Given the description of an element on the screen output the (x, y) to click on. 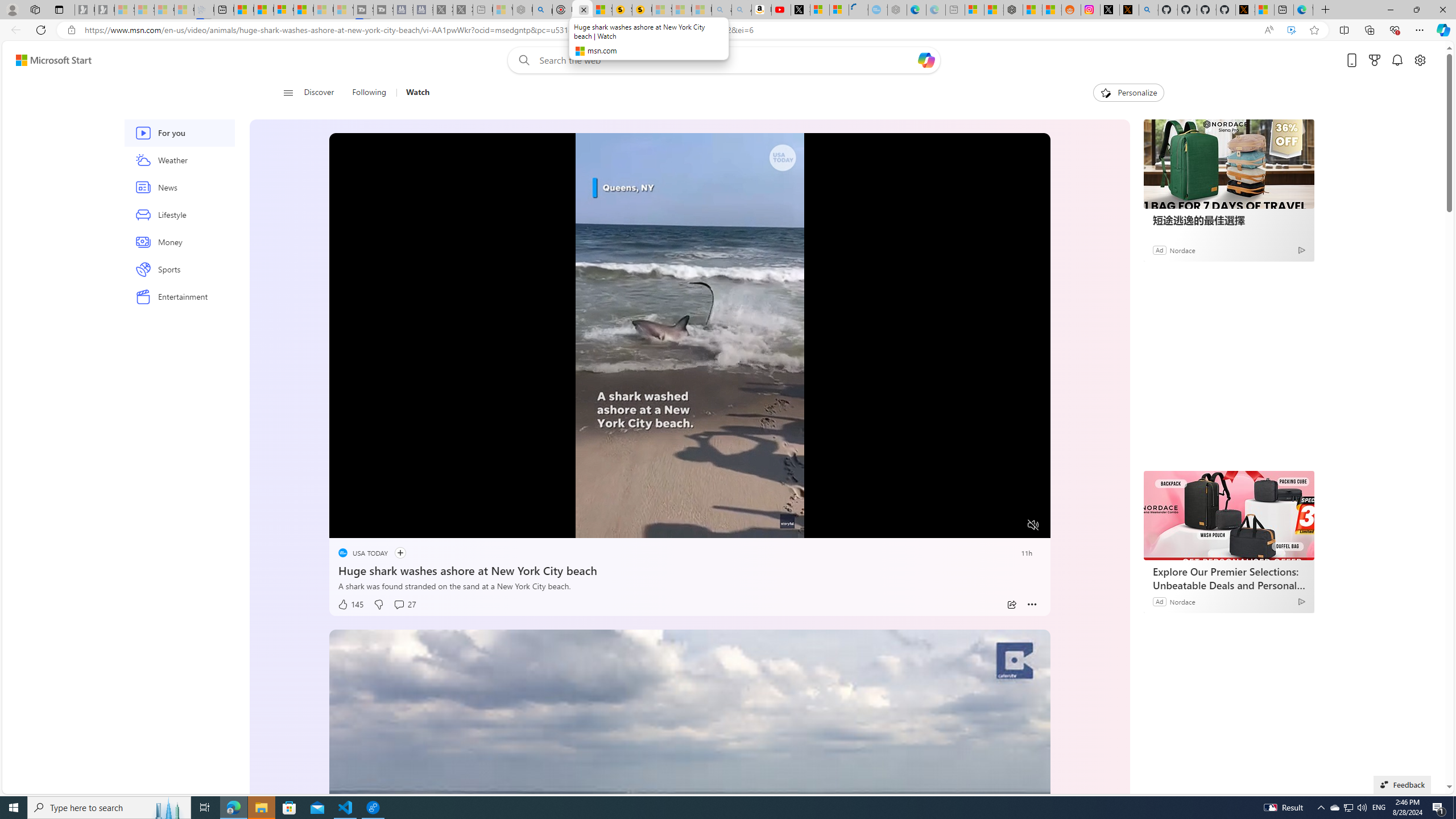
145 Like (349, 604)
Personalize (1128, 92)
Open navigation menu (287, 92)
Open settings (1420, 60)
Nordace - Summer Adventures 2024 - Sleeping (522, 9)
Share (1010, 604)
